Given the description of an element on the screen output the (x, y) to click on. 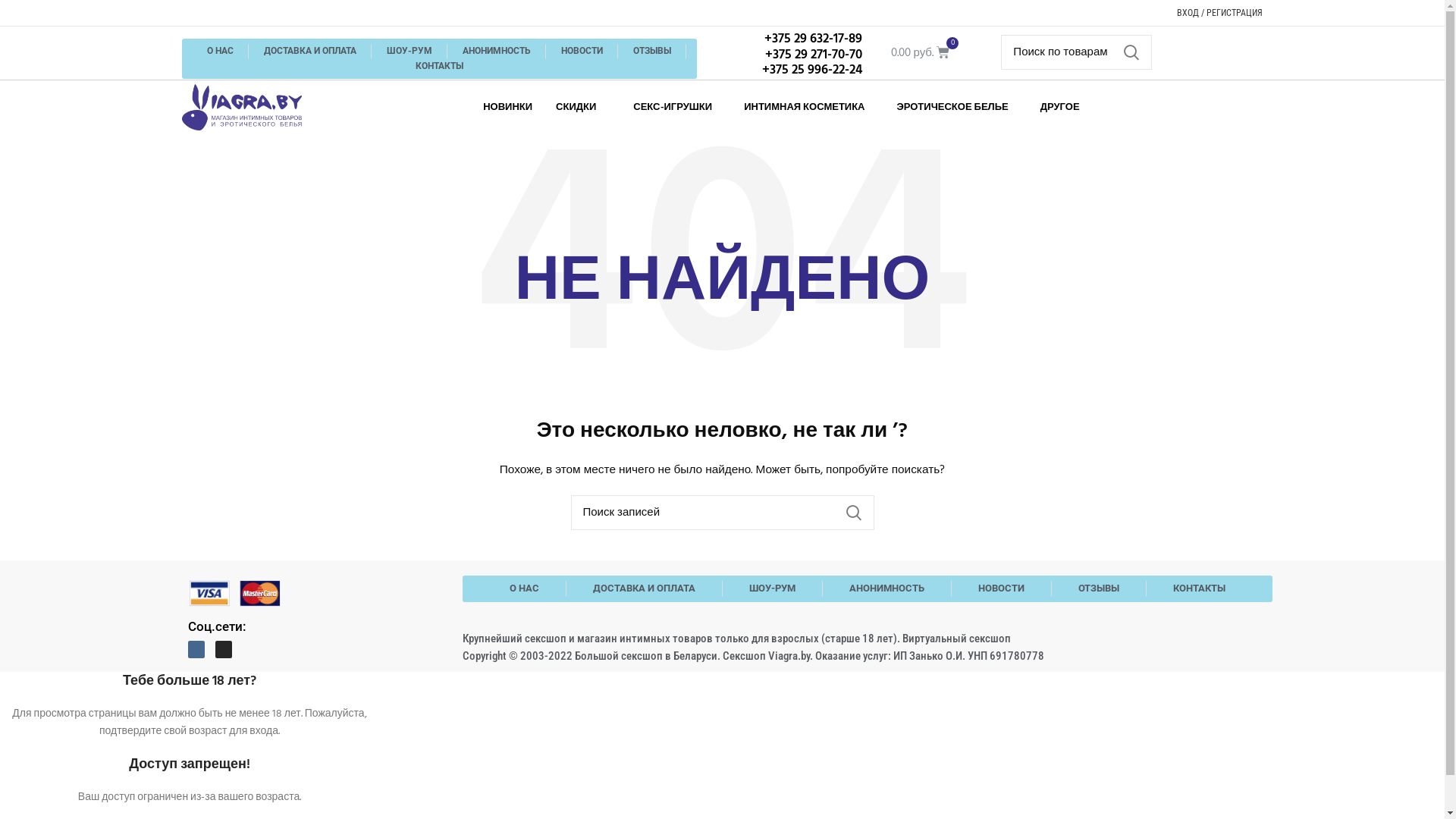
+375 25 996-22-24 Element type: text (779, 70)
+375 29 632-17-89 Element type: text (779, 39)
+375 29 271-70-70 Element type: text (779, 54)
